Given the description of an element on the screen output the (x, y) to click on. 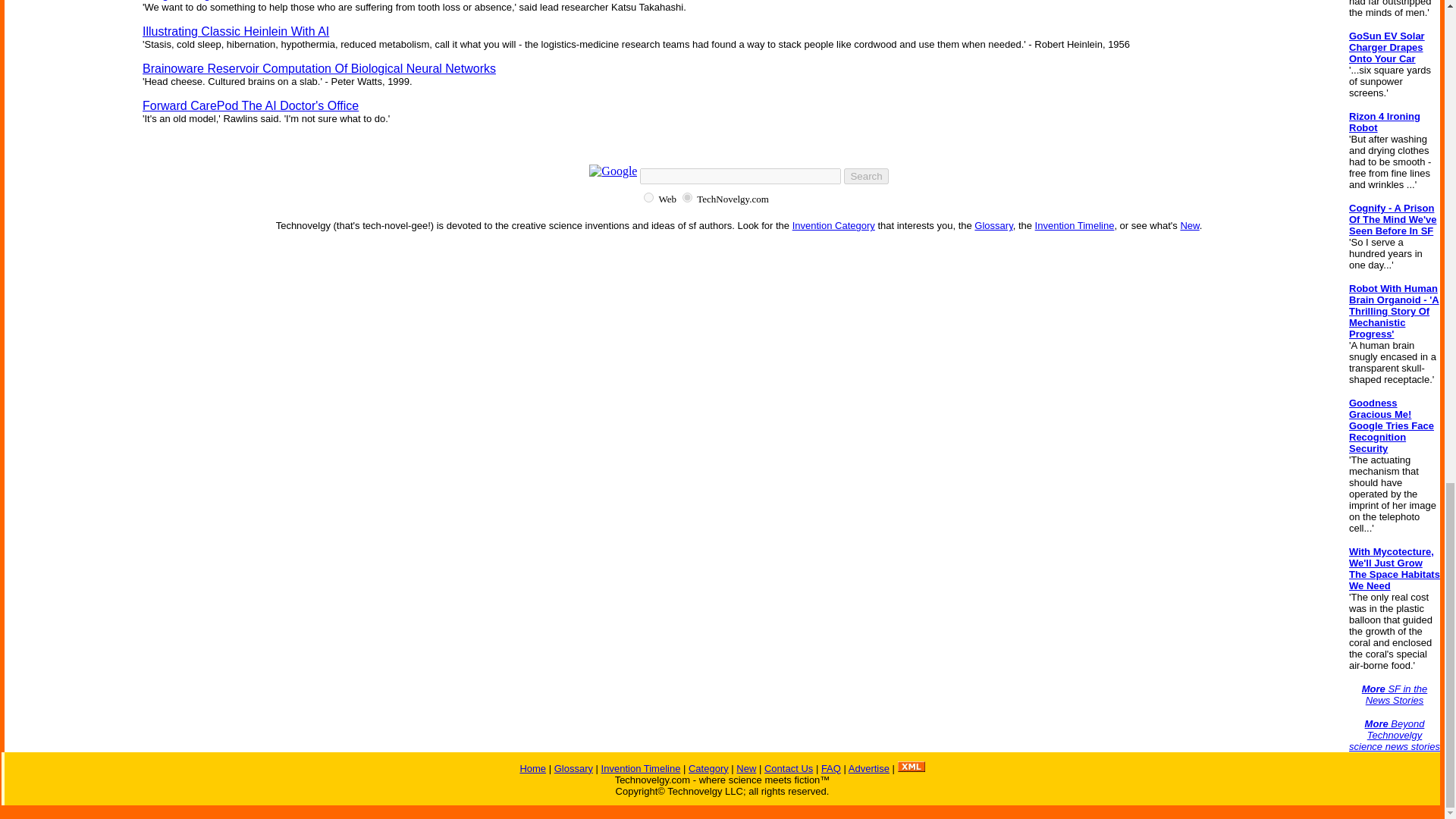
Search (866, 176)
TechNovelgy.com (687, 197)
